Given the description of an element on the screen output the (x, y) to click on. 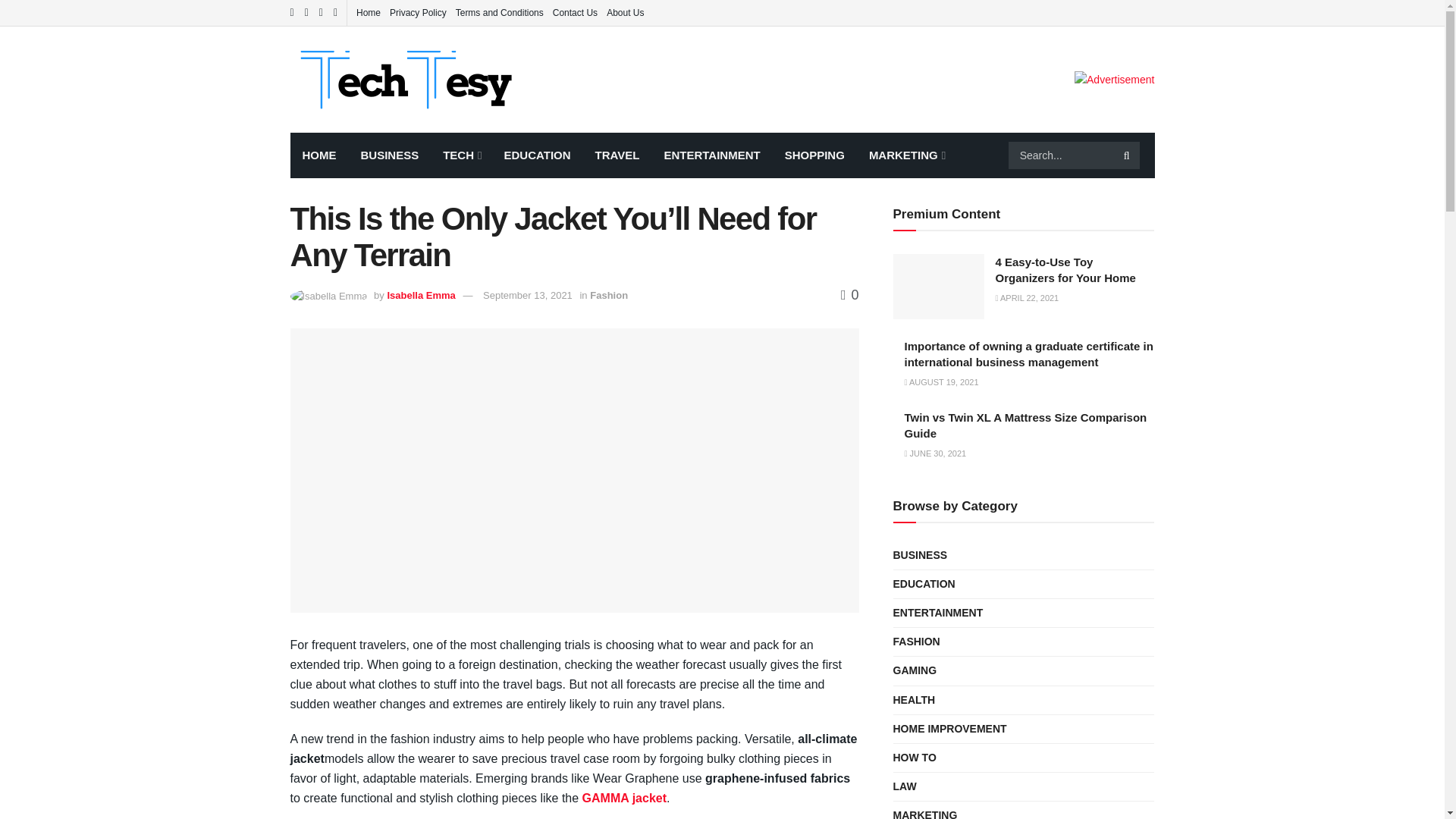
MARKETING (906, 155)
Contact Us (574, 12)
HOME (318, 155)
SHOPPING (815, 155)
EDUCATION (537, 155)
BUSINESS (389, 155)
Terms and Conditions (499, 12)
TECH (461, 155)
ENTERTAINMENT (710, 155)
Home (368, 12)
